Given the description of an element on the screen output the (x, y) to click on. 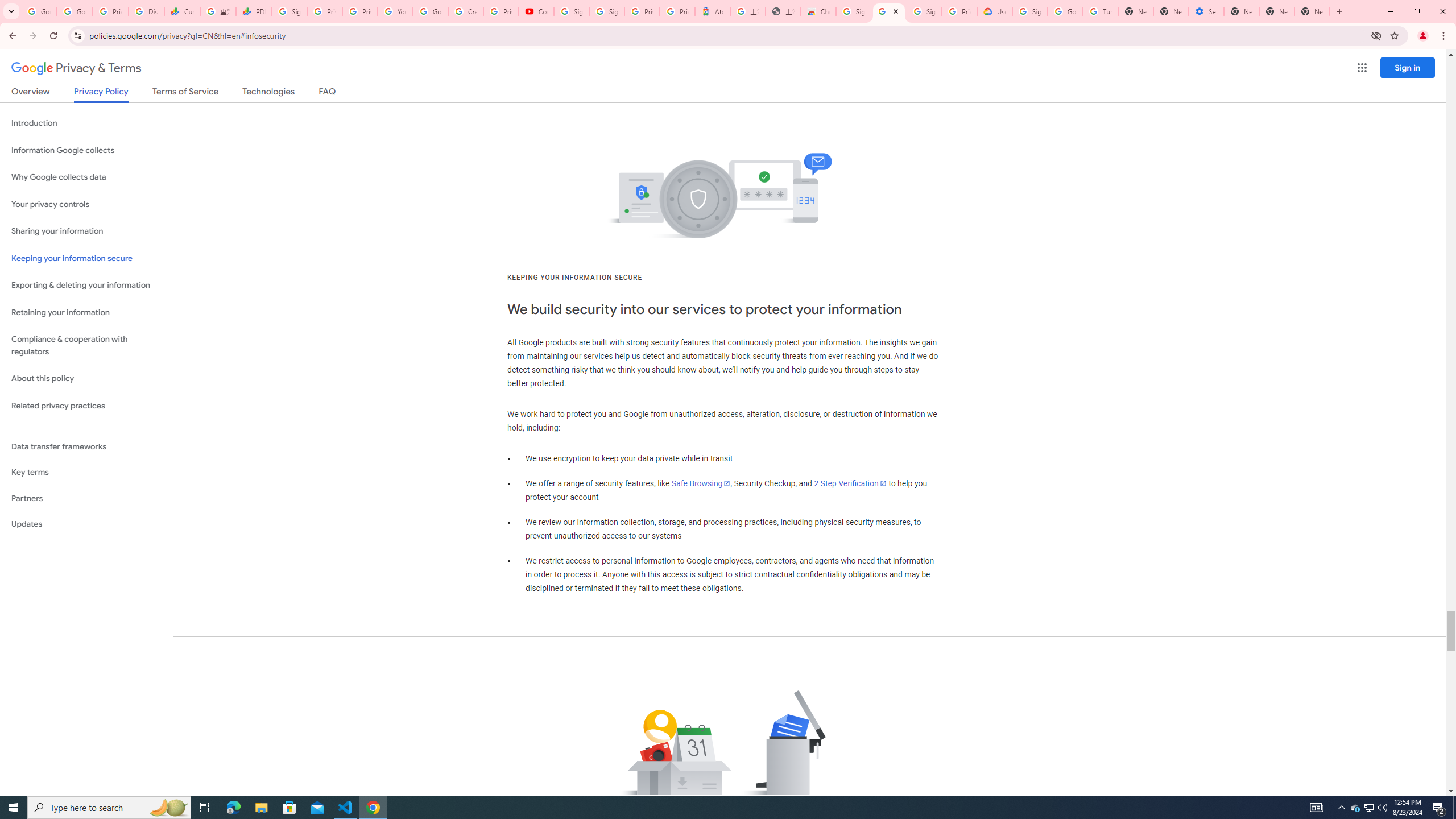
Sign in - Google Accounts (923, 11)
Sharing your information (86, 230)
Compliance & cooperation with regulators (86, 345)
Your privacy controls (86, 204)
Information Google collects (86, 150)
Google Account Help (429, 11)
